Given the description of an element on the screen output the (x, y) to click on. 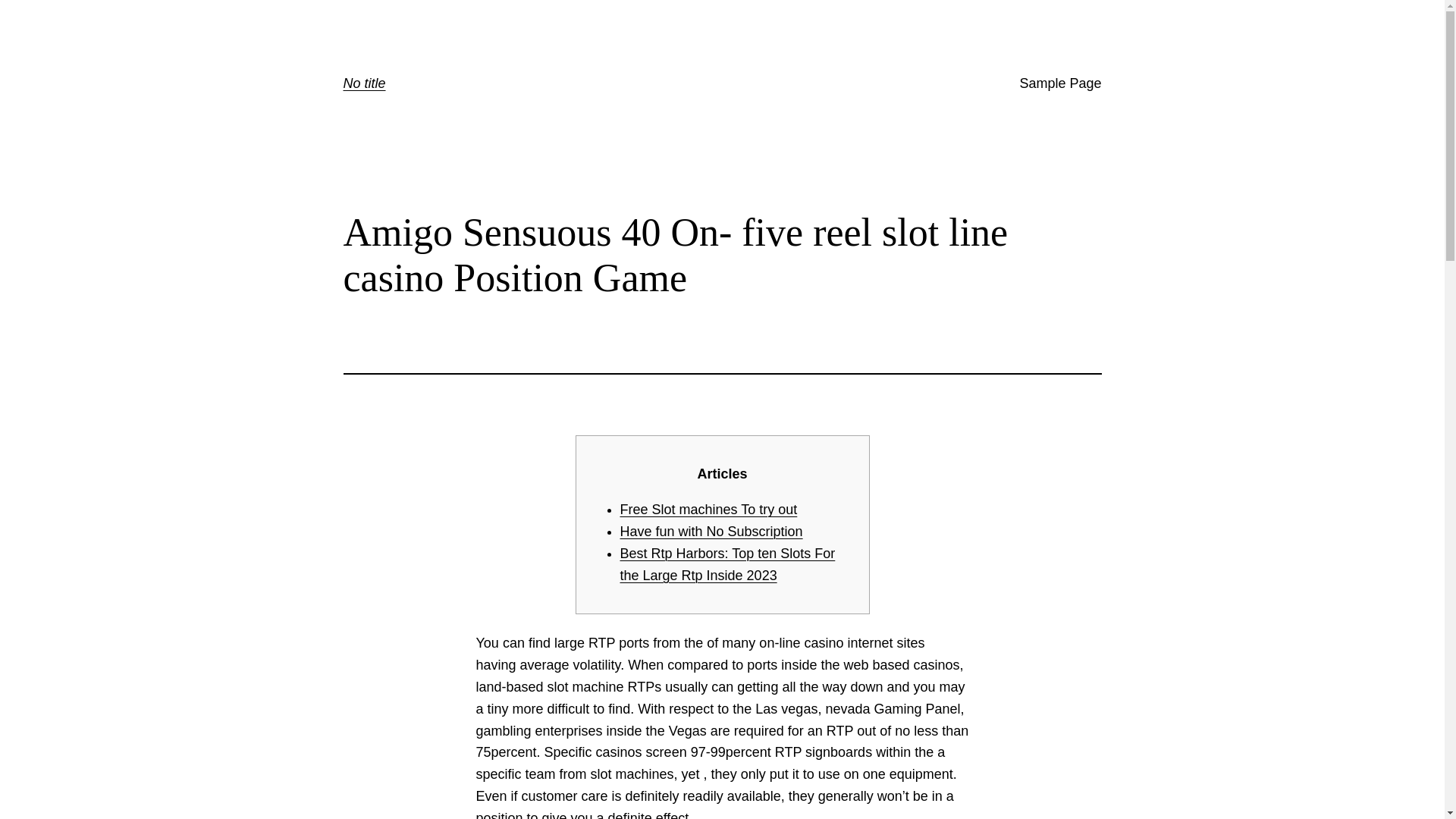
Free Slot machines To try out (708, 509)
No title (363, 83)
Sample Page (1059, 83)
Have fun with No Subscription (711, 531)
